Given the description of an element on the screen output the (x, y) to click on. 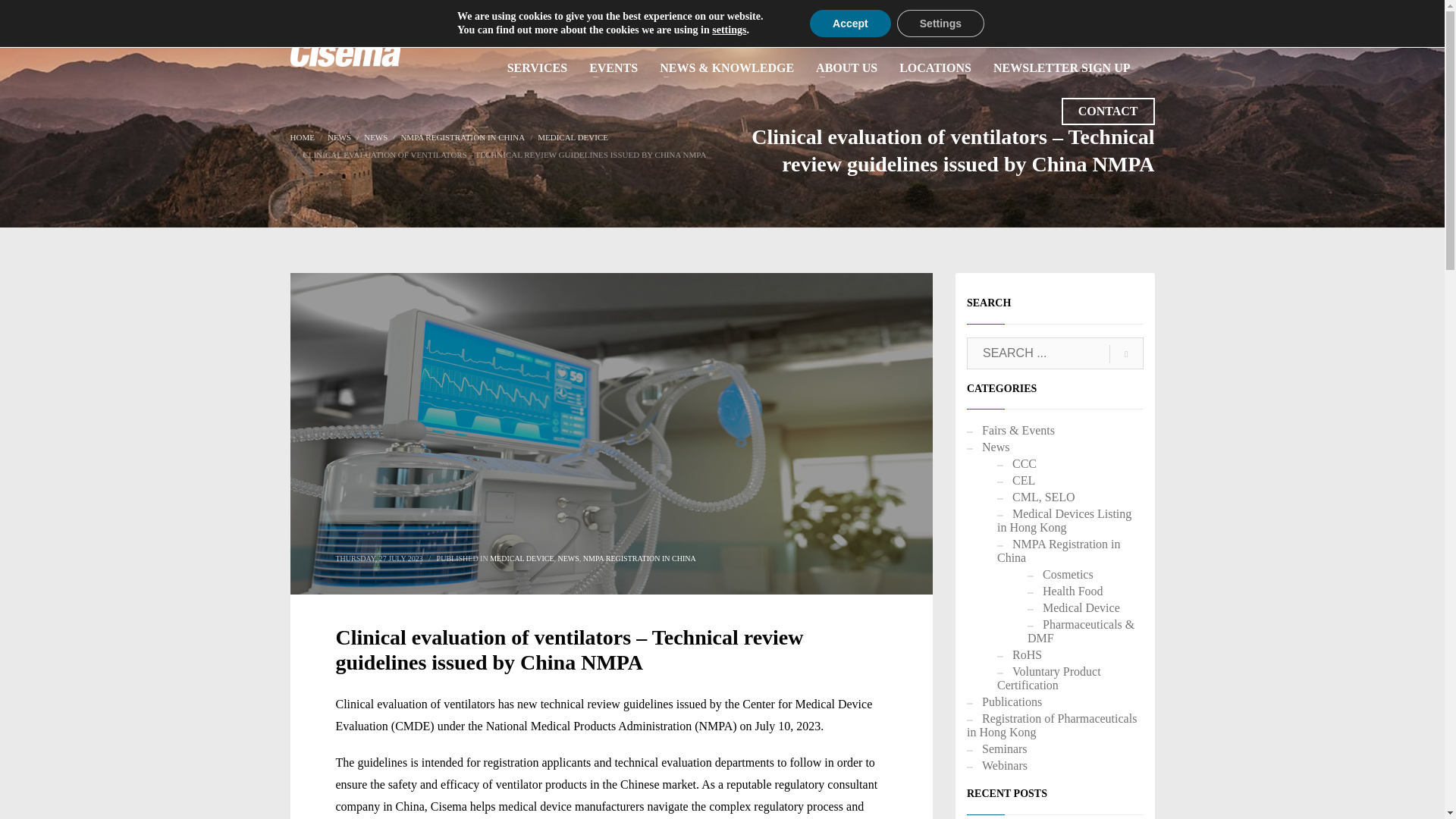
ENGLISH (1129, 18)
ABOUT US (846, 68)
News (338, 136)
SERVICES (536, 68)
EVENTS (612, 68)
Contact (1107, 111)
